Given the description of an element on the screen output the (x, y) to click on. 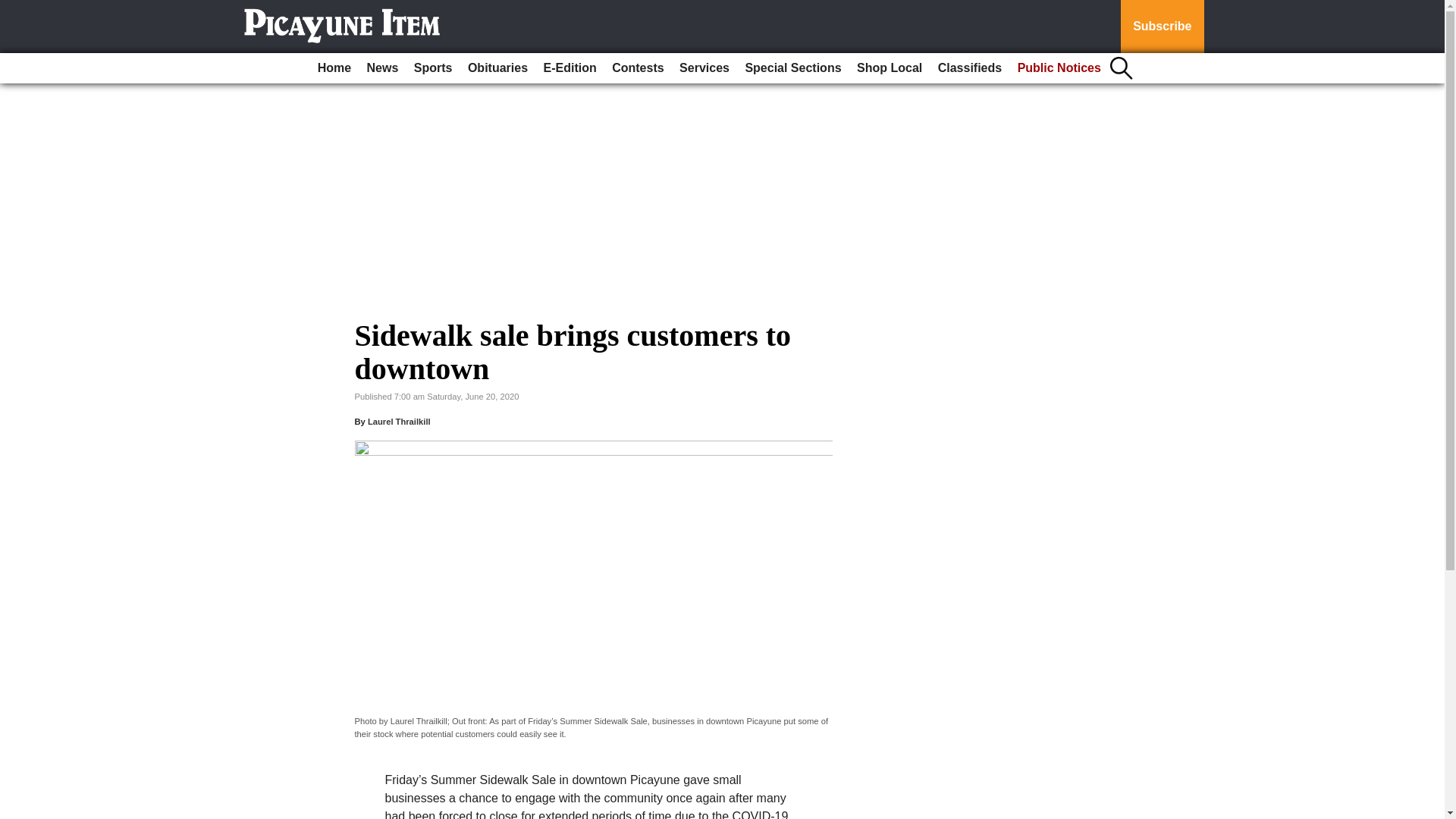
Sports (432, 68)
E-Edition (569, 68)
Go (13, 9)
Classifieds (969, 68)
Services (703, 68)
Laurel Thrailkill (399, 420)
Shop Local (889, 68)
Obituaries (497, 68)
News (382, 68)
Subscribe (1162, 26)
Public Notices (1058, 68)
Special Sections (792, 68)
Home (333, 68)
Contests (637, 68)
